Given the description of an element on the screen output the (x, y) to click on. 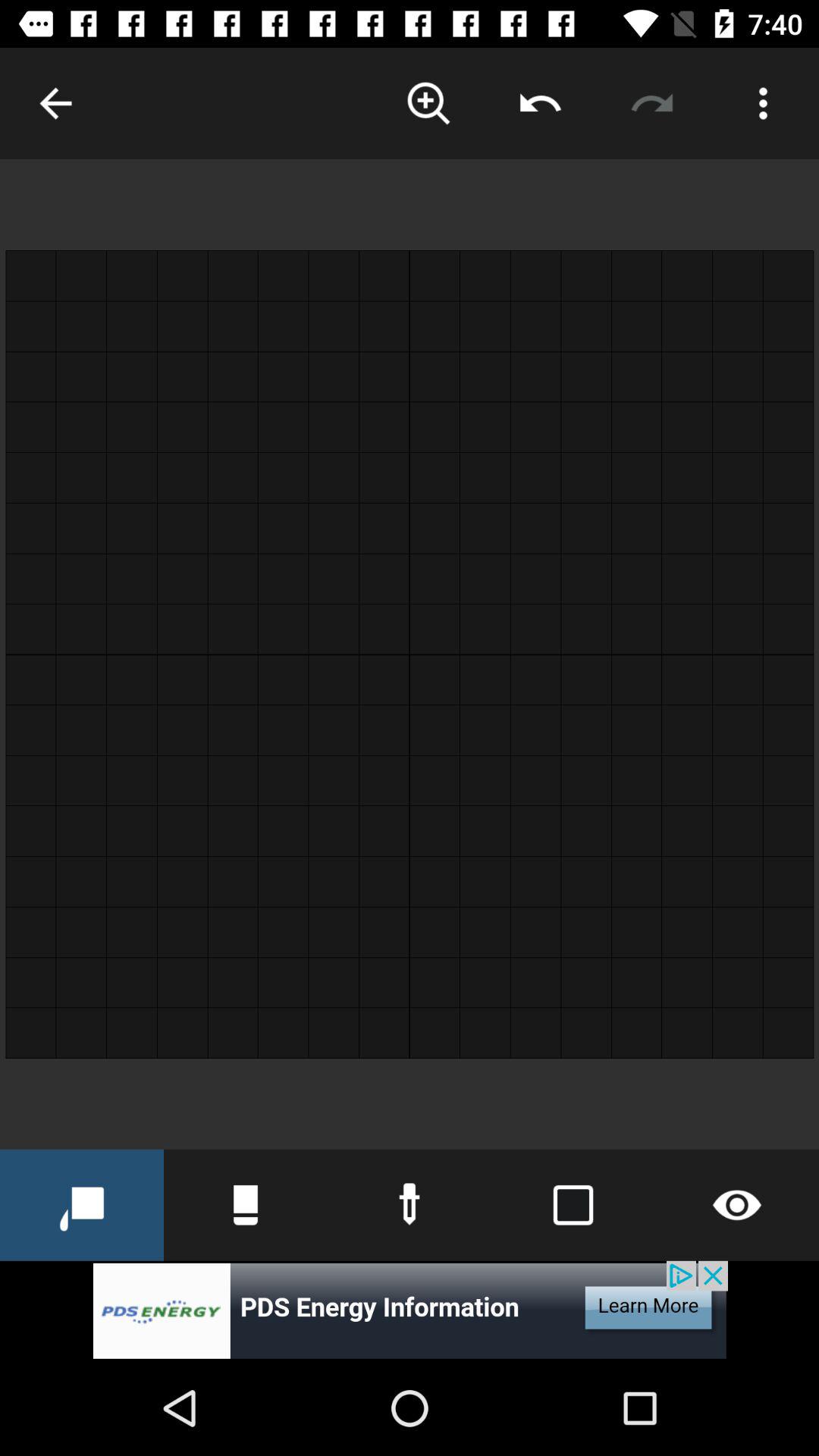
go back (55, 103)
